Given the description of an element on the screen output the (x, y) to click on. 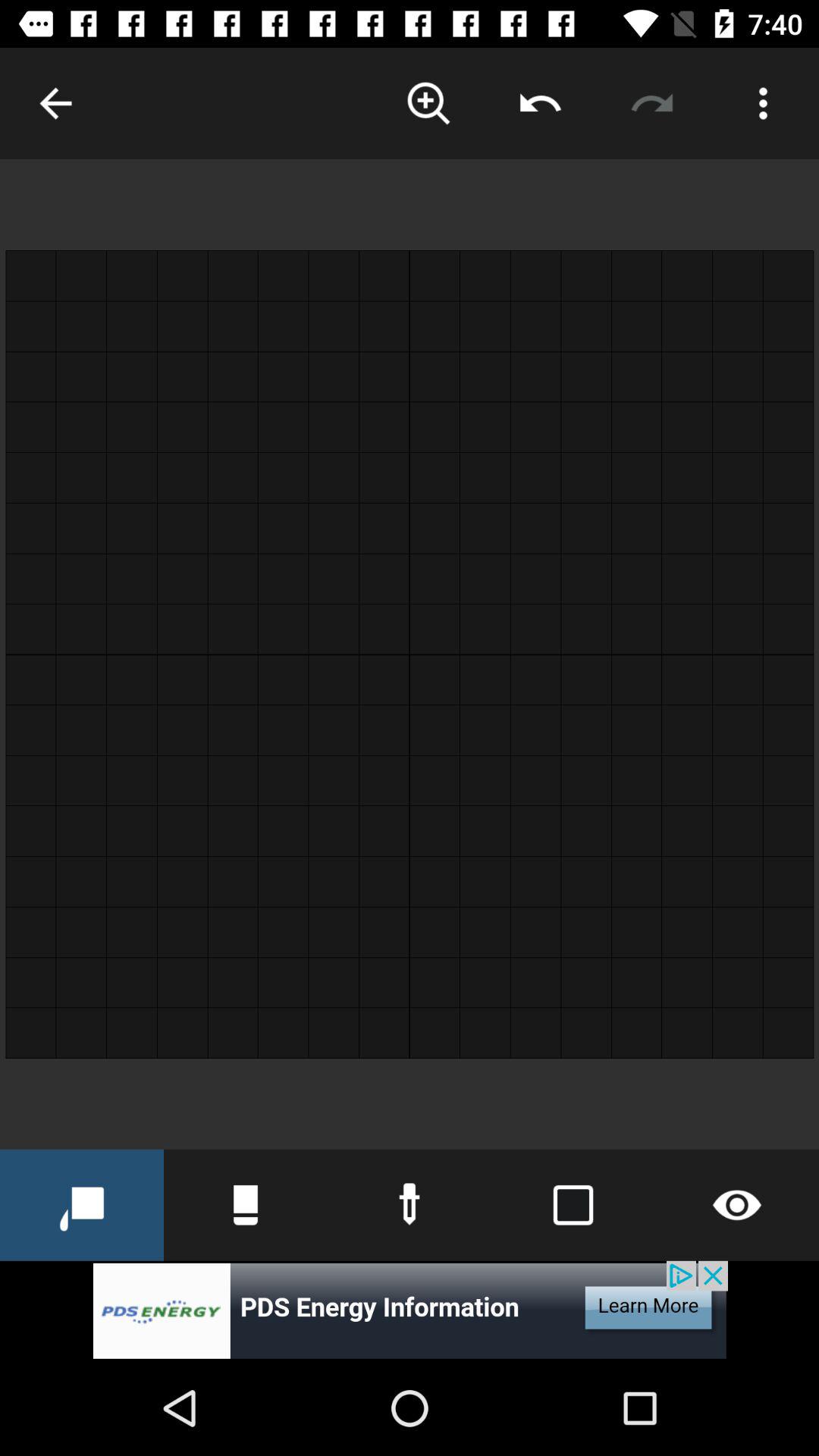
go back (55, 103)
